Given the description of an element on the screen output the (x, y) to click on. 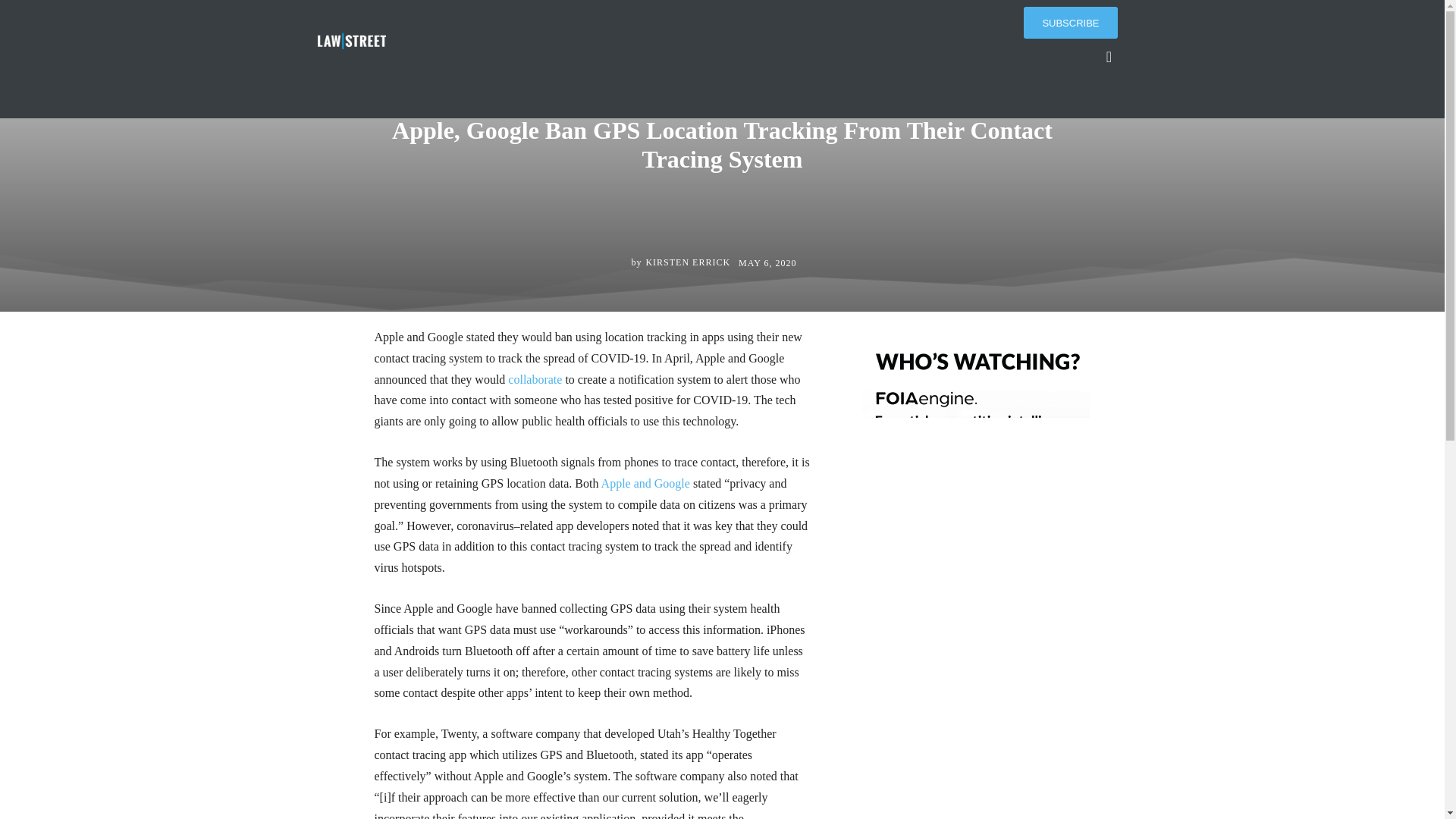
Subscribe (1069, 22)
TECH GIANTS (738, 68)
TECH (682, 68)
Apple and Google (645, 482)
KIRSTEN ERRICK (687, 261)
SUBSCRIBE (1069, 22)
collaborate (535, 379)
